Given the description of an element on the screen output the (x, y) to click on. 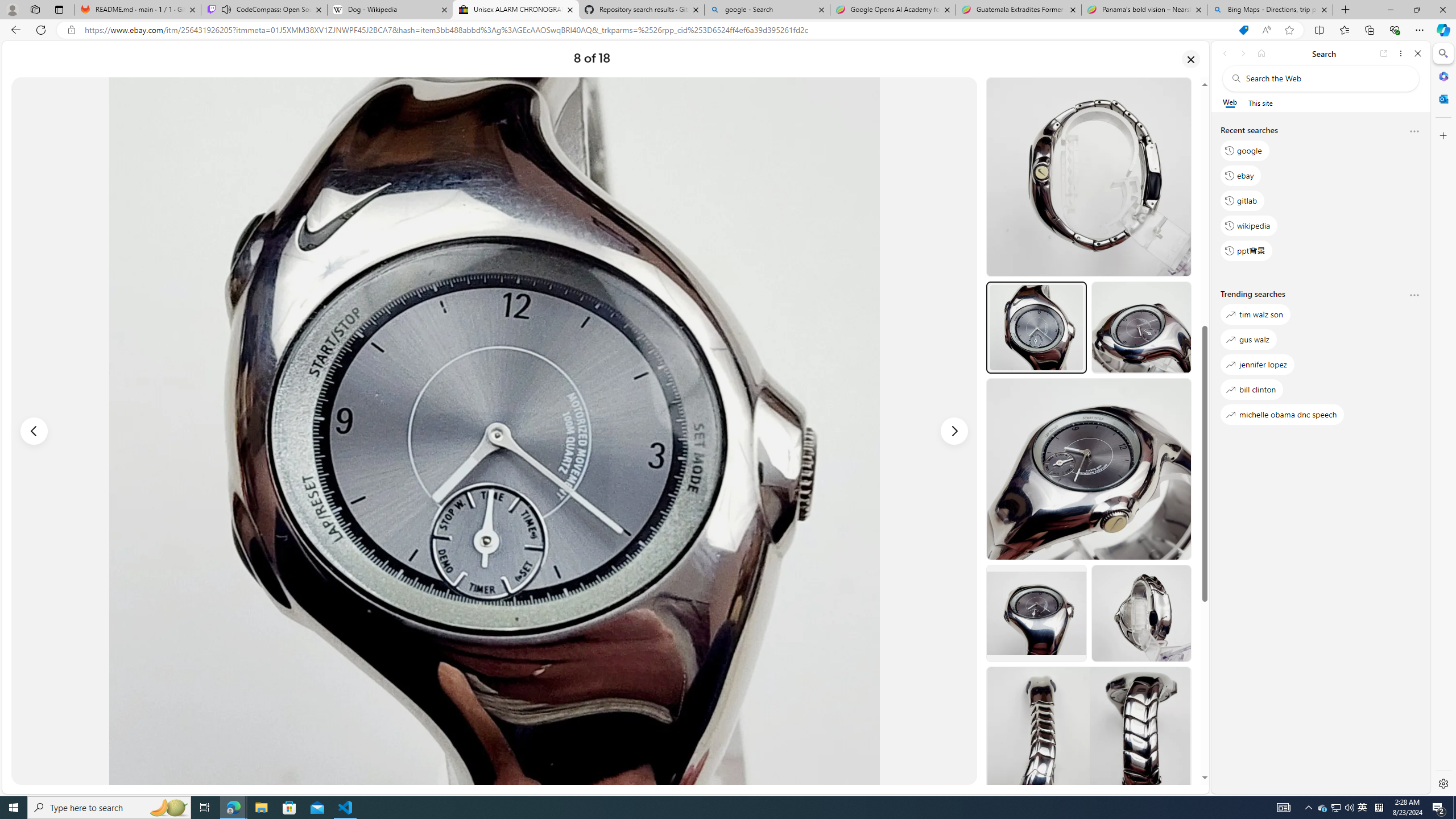
google - Search (766, 9)
Open link in new tab (1383, 53)
bill clinton (1252, 389)
Previous image - Item images thumbnails (34, 430)
michelle obama dnc speech (1281, 414)
jennifer lopez (1257, 364)
Google Opens AI Academy for Startups - Nearshore Americas (892, 9)
gitlab (1242, 200)
